Given the description of an element on the screen output the (x, y) to click on. 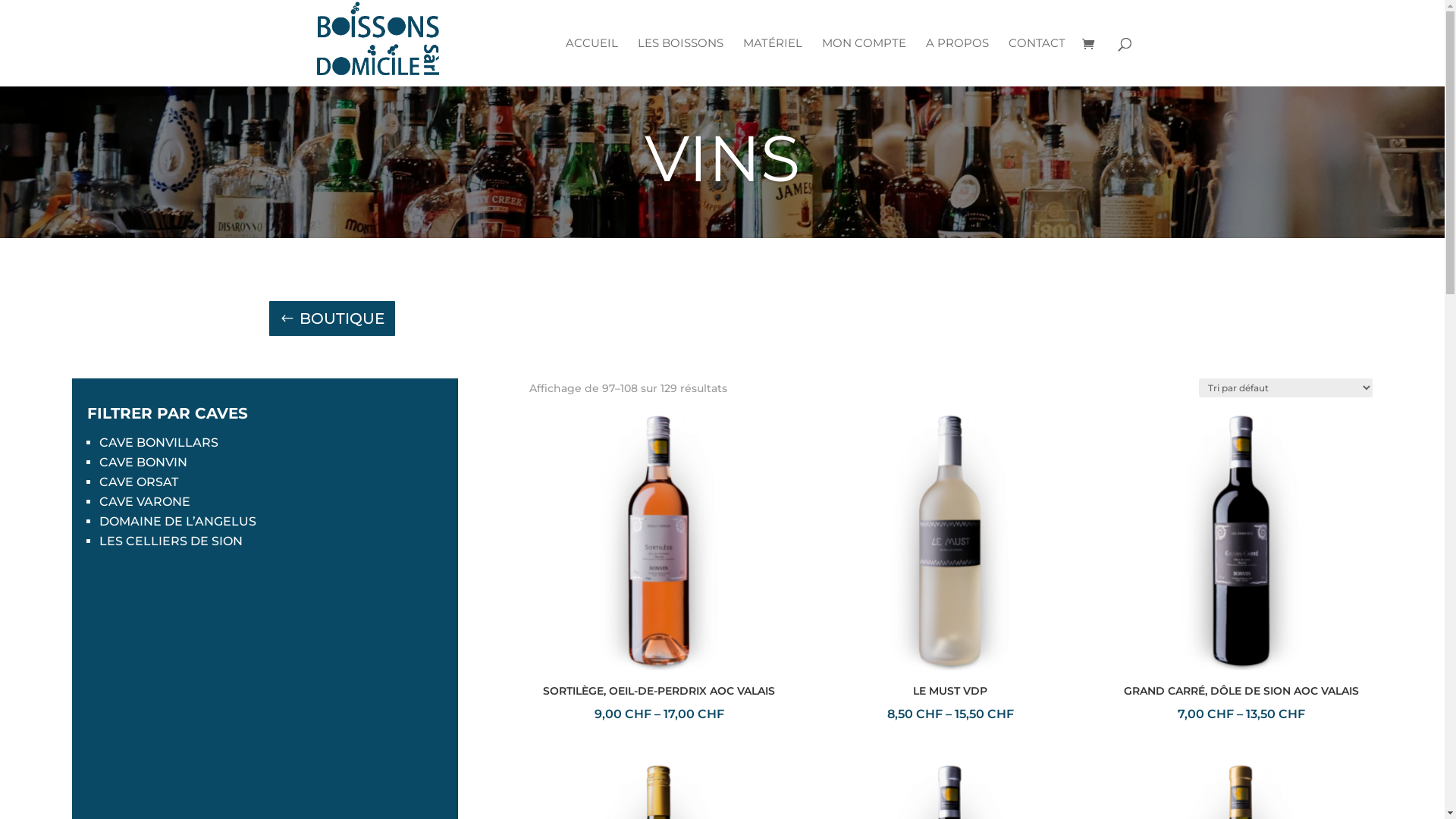
LES BOISSONS Element type: text (679, 61)
MON COMPTE Element type: text (864, 61)
CAVE ORSAT Element type: text (138, 481)
CAVE VARONE Element type: text (144, 501)
CAVE BONVIN Element type: text (143, 462)
A PROPOS Element type: text (956, 61)
CONTACT Element type: text (1036, 61)
BOUTIQUE Element type: text (330, 318)
CAVE BONVILLARS Element type: text (158, 442)
LES CELLIERS DE SION Element type: text (170, 540)
ACCUEIL Element type: text (591, 61)
